Given the description of an element on the screen output the (x, y) to click on. 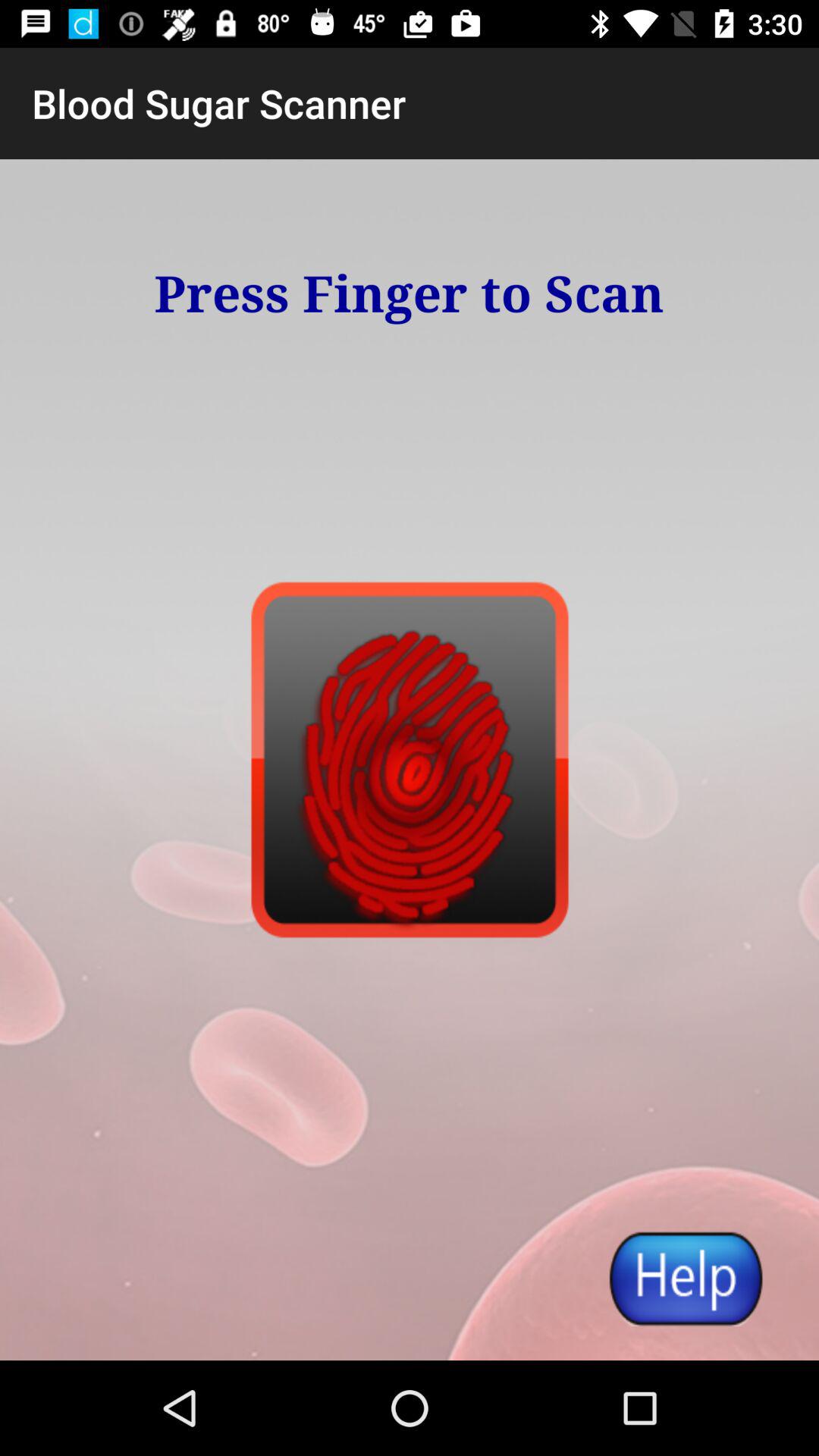
launch the item at the bottom right corner (684, 1278)
